Given the description of an element on the screen output the (x, y) to click on. 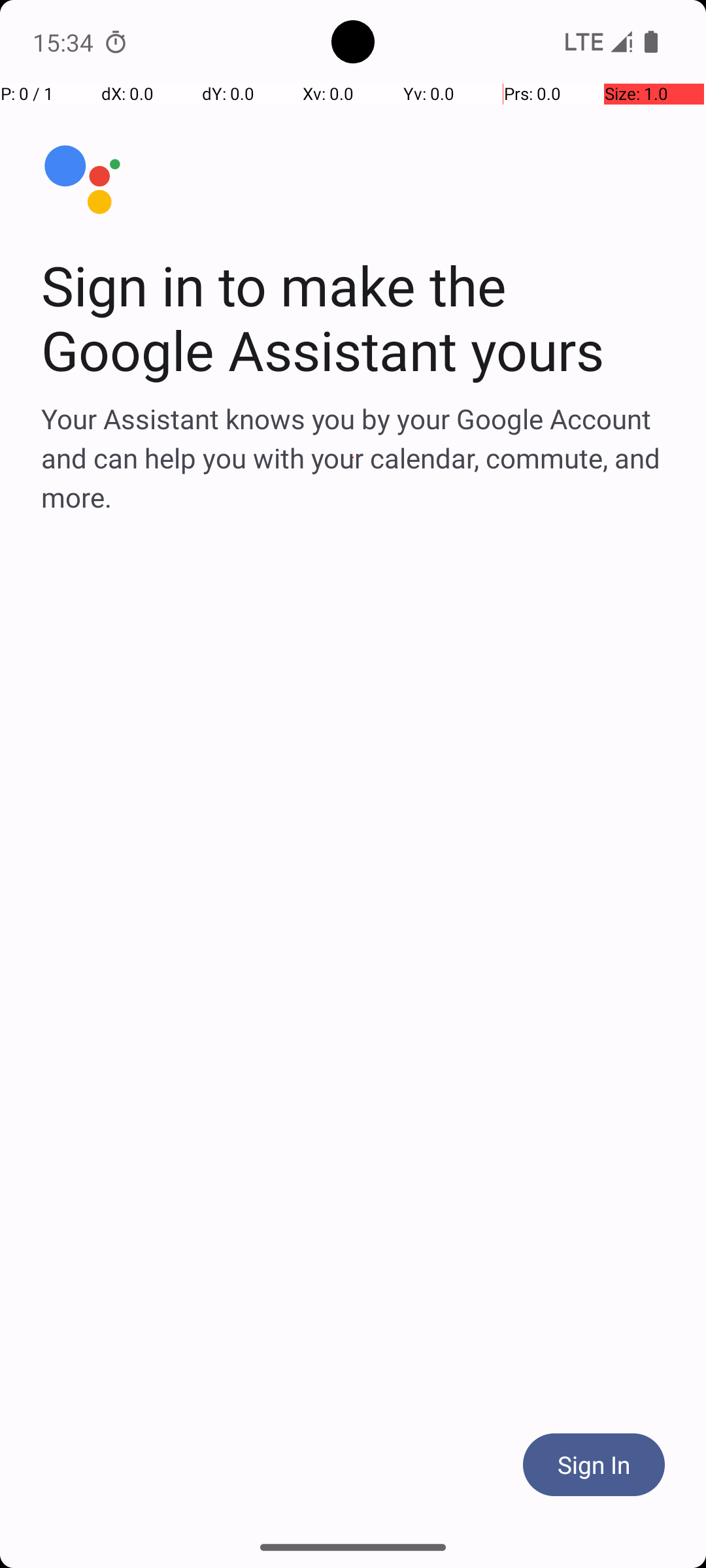
Sign In Element type: android.widget.Button (593, 1464)
Sign in to make the Google Assistant yours Element type: android.widget.TextView (352, 317)
Your Assistant knows you by your Google Account and can help you with your calendar, commute, and more. Element type: android.widget.TextView (352, 457)
